Given the description of an element on the screen output the (x, y) to click on. 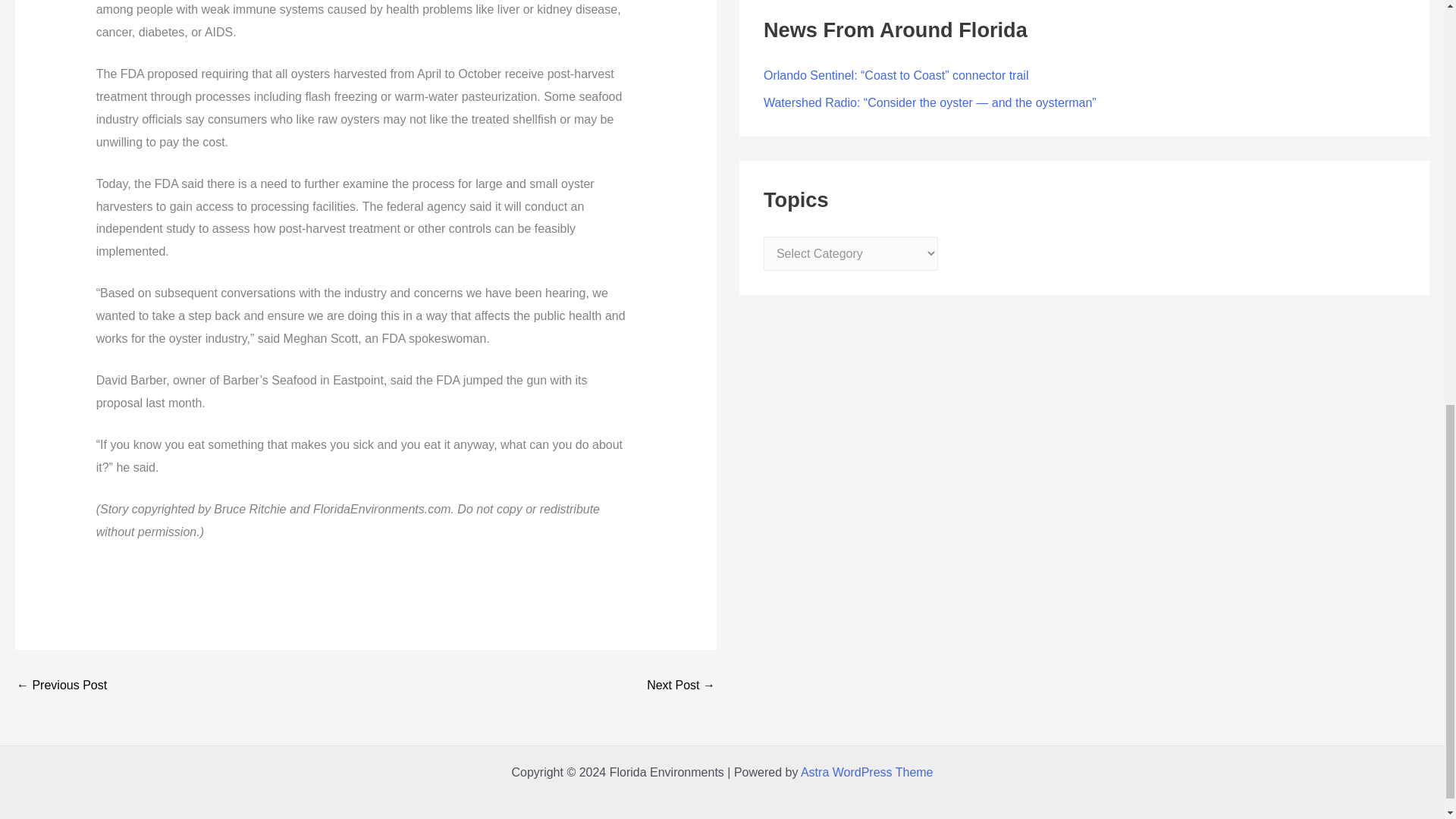
Judge backs enviro groups, EPA settlement (680, 685)
Two Florida DEP heads join opposition to EPA standards (61, 685)
Astra WordPress Theme (866, 771)
